Given the description of an element on the screen output the (x, y) to click on. 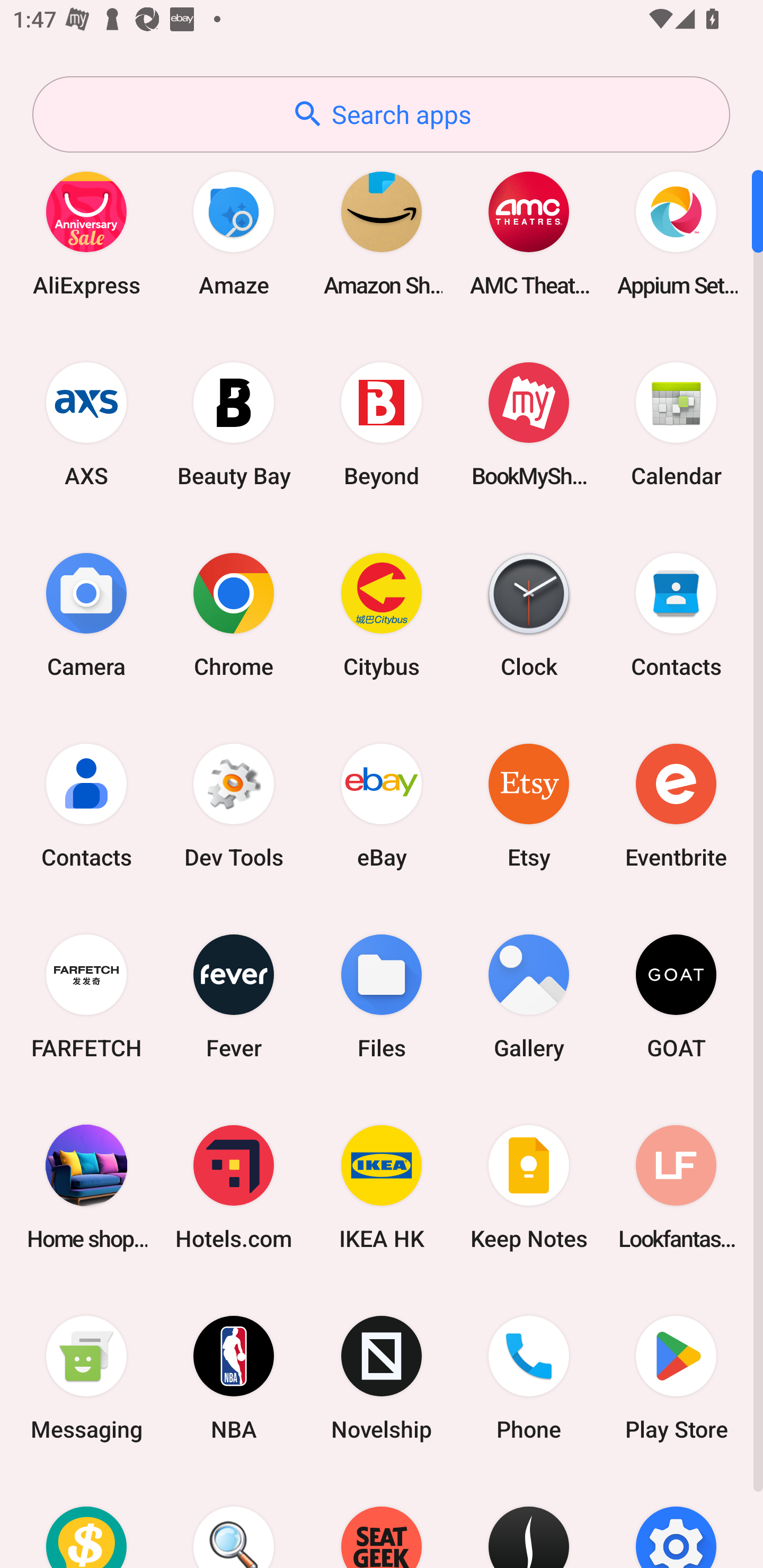
  Search apps (381, 114)
AliExpress (86, 233)
Amaze (233, 233)
Amazon Shopping (381, 233)
AMC Theatres (528, 233)
Appium Settings (676, 233)
AXS (86, 424)
Beauty Bay (233, 424)
Beyond (381, 424)
BookMyShow (528, 424)
Calendar (676, 424)
Camera (86, 614)
Chrome (233, 614)
Citybus (381, 614)
Clock (528, 614)
Contacts (676, 614)
Contacts (86, 805)
Dev Tools (233, 805)
eBay (381, 805)
Etsy (528, 805)
Eventbrite (676, 805)
FARFETCH (86, 996)
Fever (233, 996)
Files (381, 996)
Gallery (528, 996)
GOAT (676, 996)
Home shopping (86, 1186)
Hotels.com (233, 1186)
IKEA HK (381, 1186)
Keep Notes (528, 1186)
Lookfantastic (676, 1186)
Messaging (86, 1377)
NBA (233, 1377)
Novelship (381, 1377)
Phone (528, 1377)
Play Store (676, 1377)
